Given the description of an element on the screen output the (x, y) to click on. 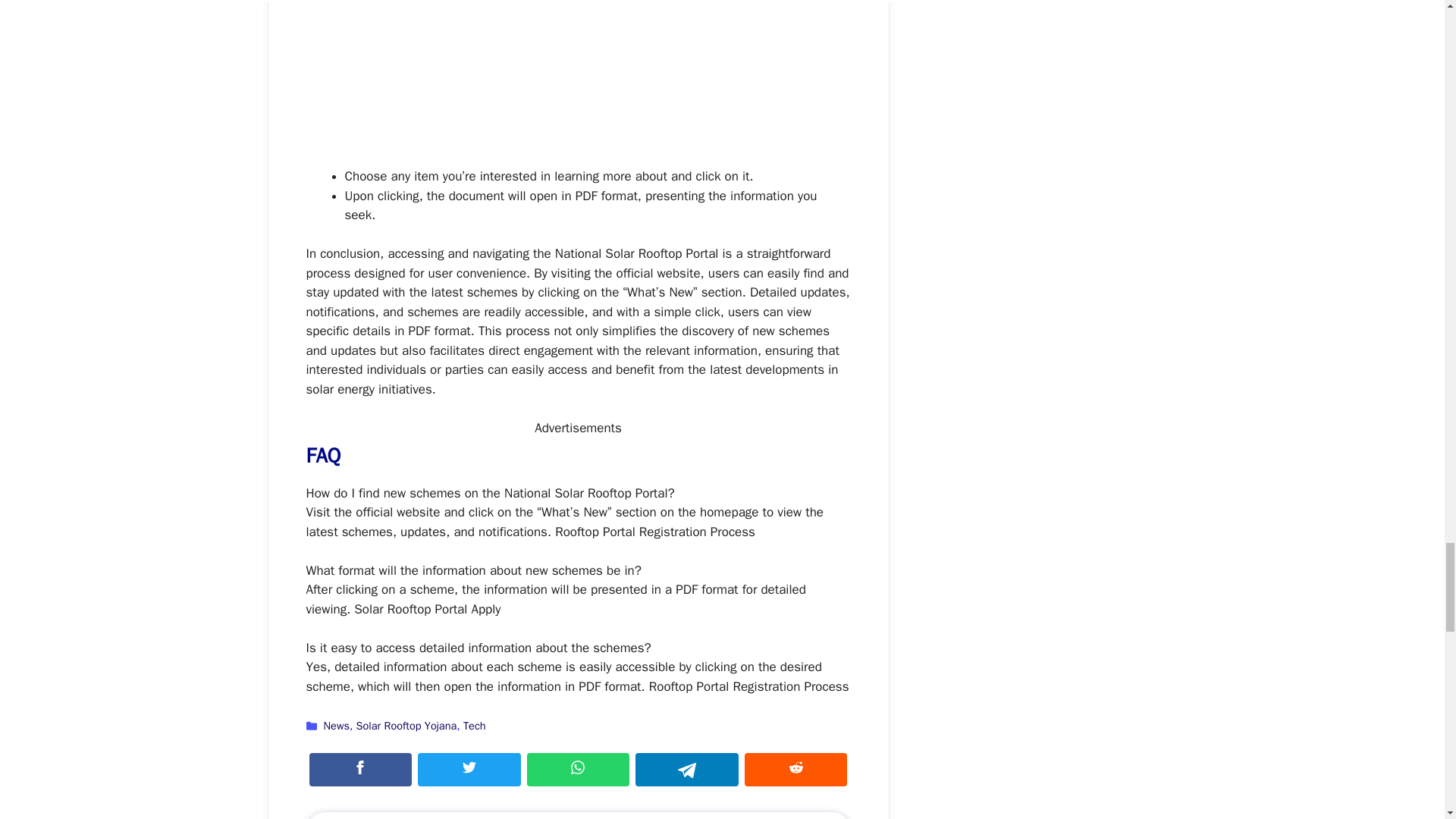
Tech (474, 725)
Solar Rooftop Yojana (406, 725)
News (336, 725)
